Given the description of an element on the screen output the (x, y) to click on. 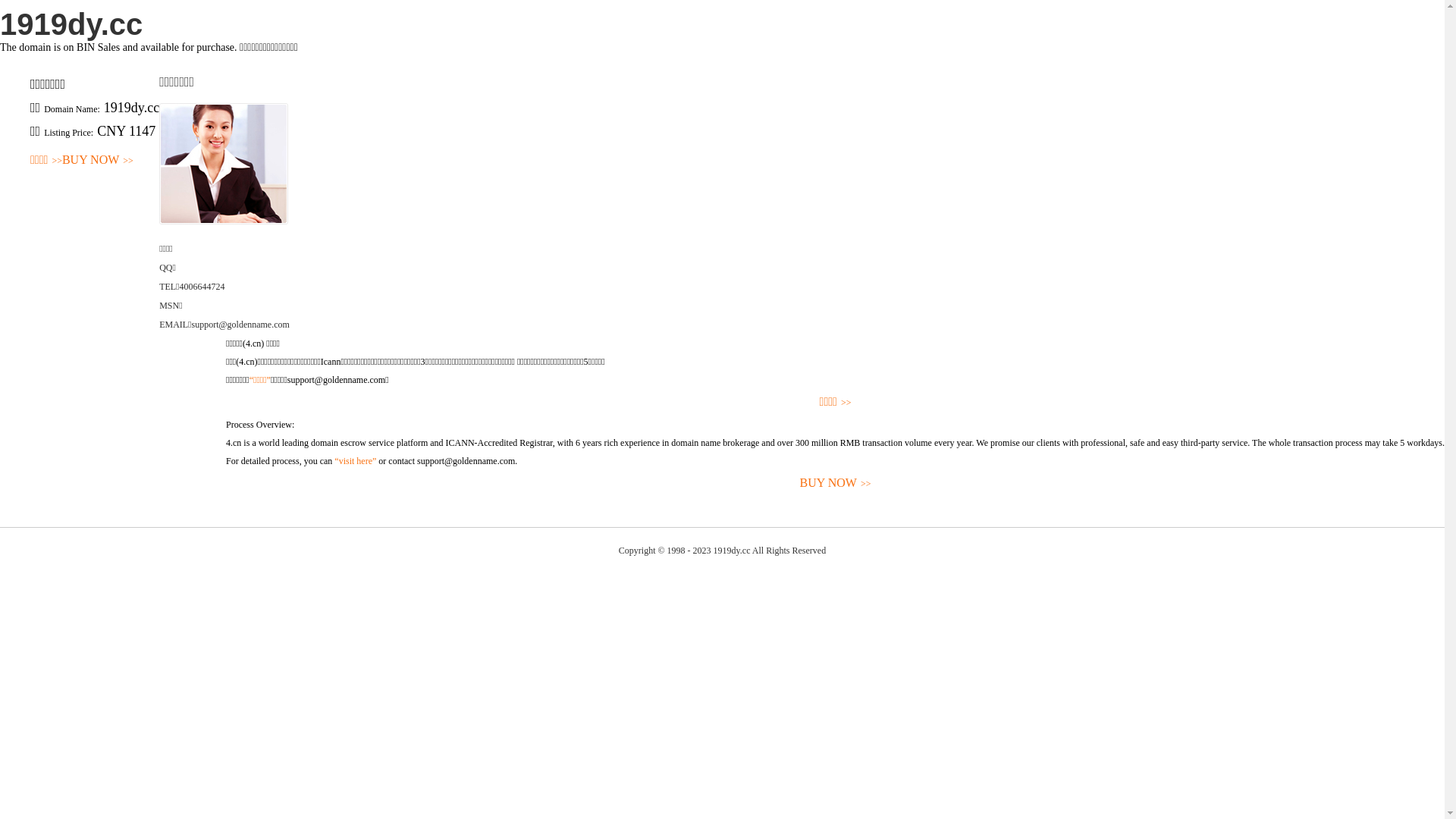
BUY NOW>> Element type: text (834, 483)
BUY NOW>> Element type: text (97, 160)
